Given the description of an element on the screen output the (x, y) to click on. 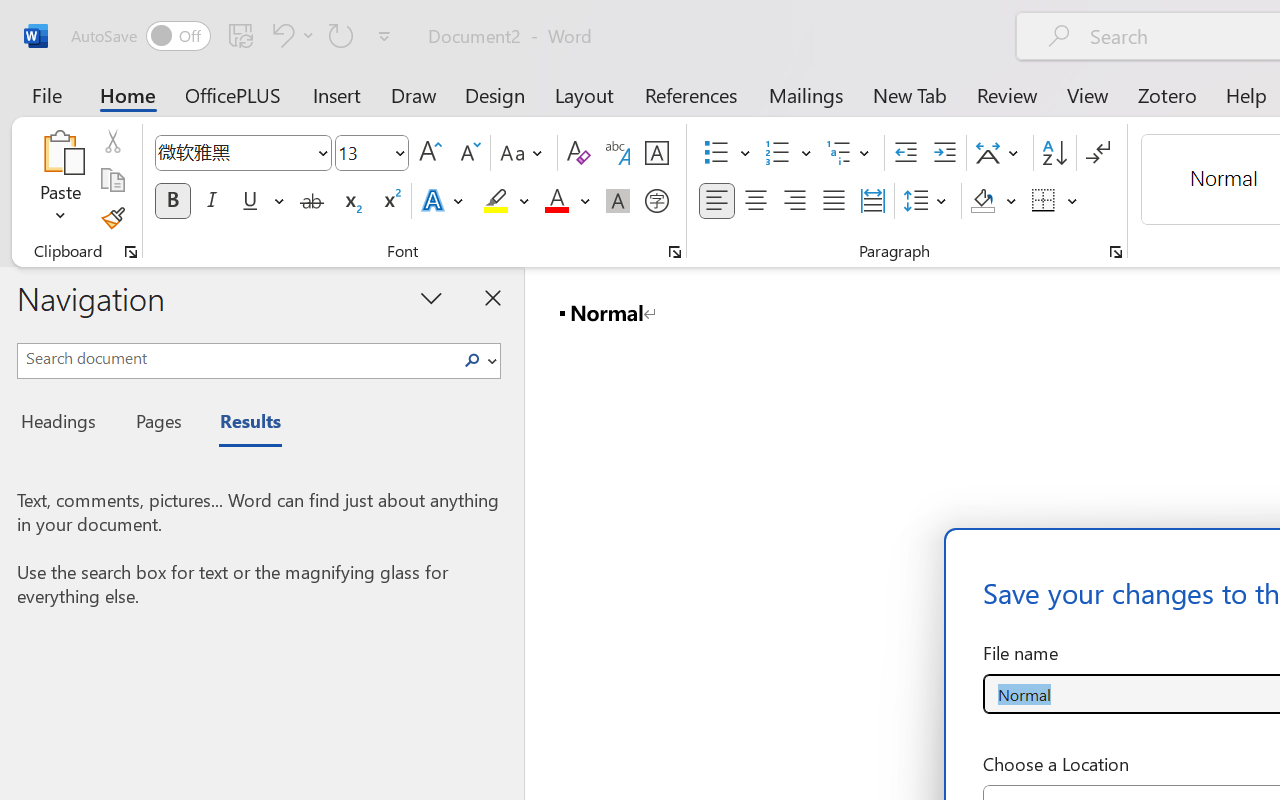
Italic (212, 201)
Line and Paragraph Spacing (927, 201)
Cut (112, 141)
Mailings (806, 94)
Change Case (524, 153)
Zotero (1166, 94)
Search document (236, 358)
Decrease Indent (906, 153)
Align Right (794, 201)
Paragraph... (1115, 252)
